Given the description of an element on the screen output the (x, y) to click on. 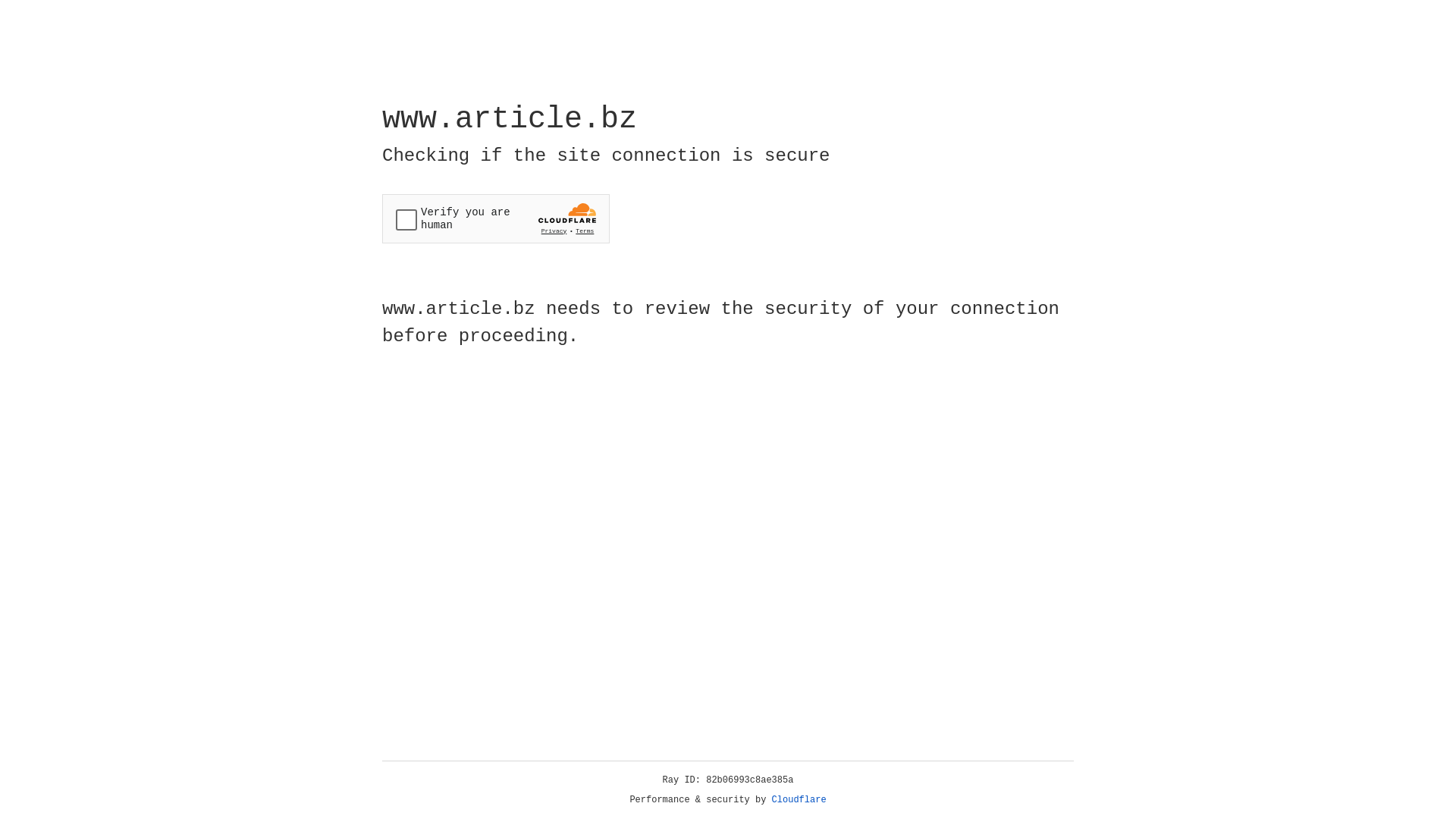
Cloudflare Element type: text (798, 799)
Widget containing a Cloudflare security challenge Element type: hover (495, 218)
